Given the description of an element on the screen output the (x, y) to click on. 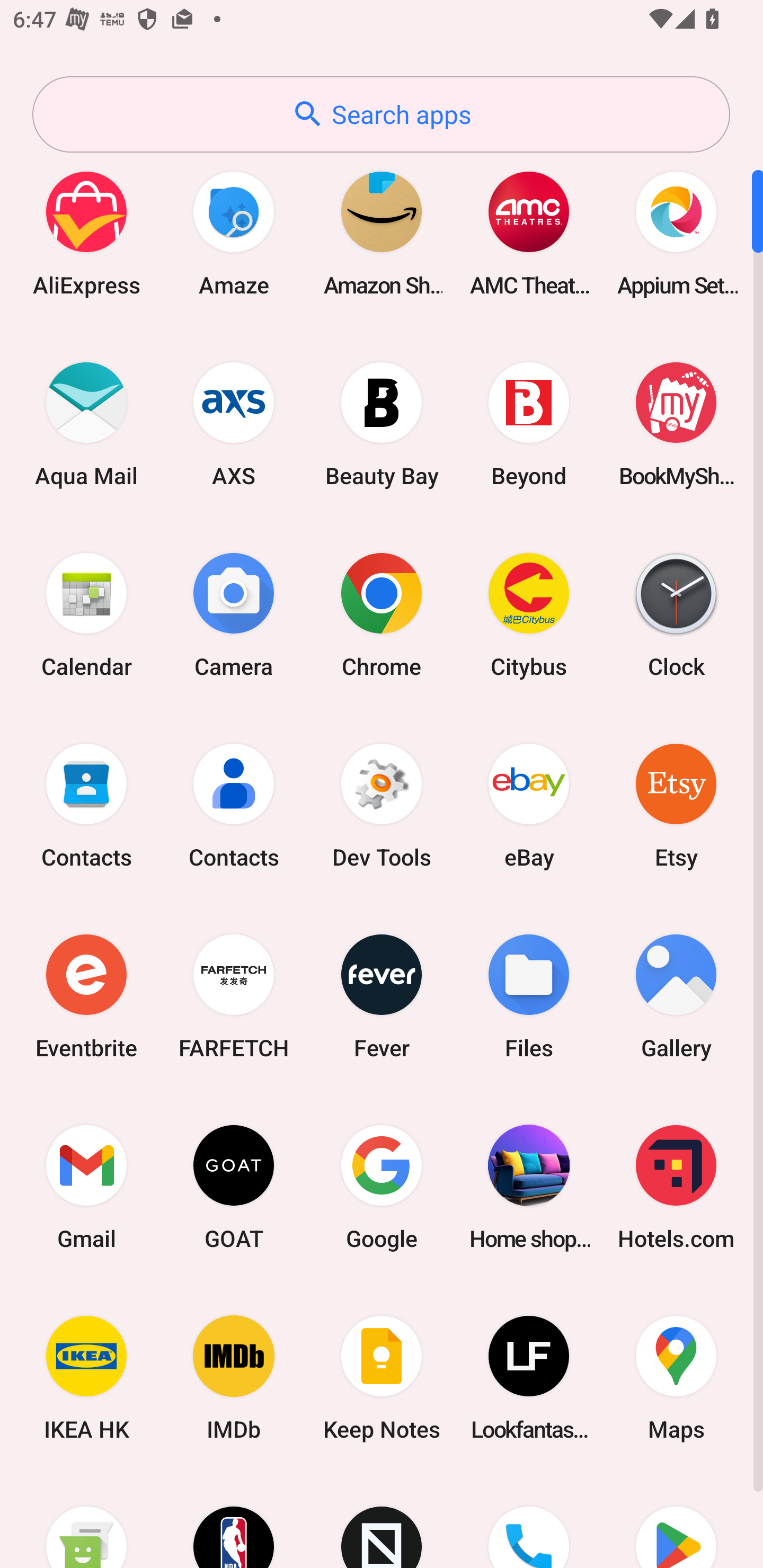
  Search apps (381, 114)
AliExpress (86, 233)
Amaze (233, 233)
Amazon Shopping (381, 233)
AMC Theatres (528, 233)
Appium Settings (676, 233)
Aqua Mail (86, 424)
AXS (233, 424)
Beauty Bay (381, 424)
Beyond (528, 424)
BookMyShow (676, 424)
Calendar (86, 614)
Camera (233, 614)
Chrome (381, 614)
Citybus (528, 614)
Clock (676, 614)
Contacts (86, 805)
Contacts (233, 805)
Dev Tools (381, 805)
eBay (528, 805)
Etsy (676, 805)
Eventbrite (86, 996)
FARFETCH (233, 996)
Fever (381, 996)
Files (528, 996)
Gallery (676, 996)
Gmail (86, 1186)
GOAT (233, 1186)
Google (381, 1186)
Home shopping (528, 1186)
Hotels.com (676, 1186)
IKEA HK (86, 1377)
IMDb (233, 1377)
Keep Notes (381, 1377)
Lookfantastic (528, 1377)
Maps (676, 1377)
Messaging (86, 1520)
NBA (233, 1520)
Novelship (381, 1520)
Phone (528, 1520)
Play Store (676, 1520)
